Given the description of an element on the screen output the (x, y) to click on. 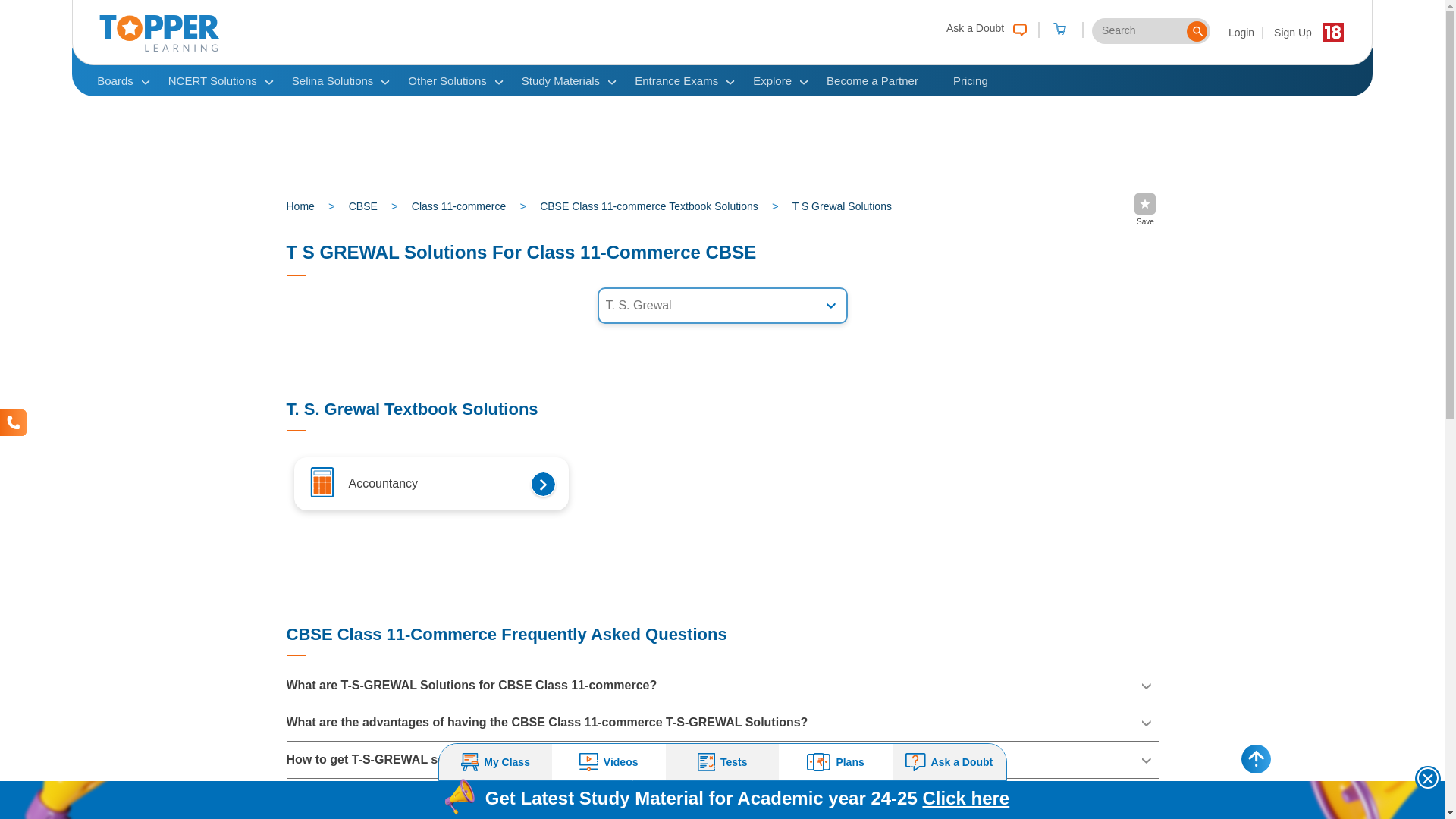
Maths (320, 481)
Cart (1059, 30)
Sign Up (1292, 32)
Ask a Doubt (986, 28)
Boards (114, 80)
Back to top (1256, 758)
TopperLearning (159, 47)
Login (1242, 32)
Get in Touch (13, 422)
